Given the description of an element on the screen output the (x, y) to click on. 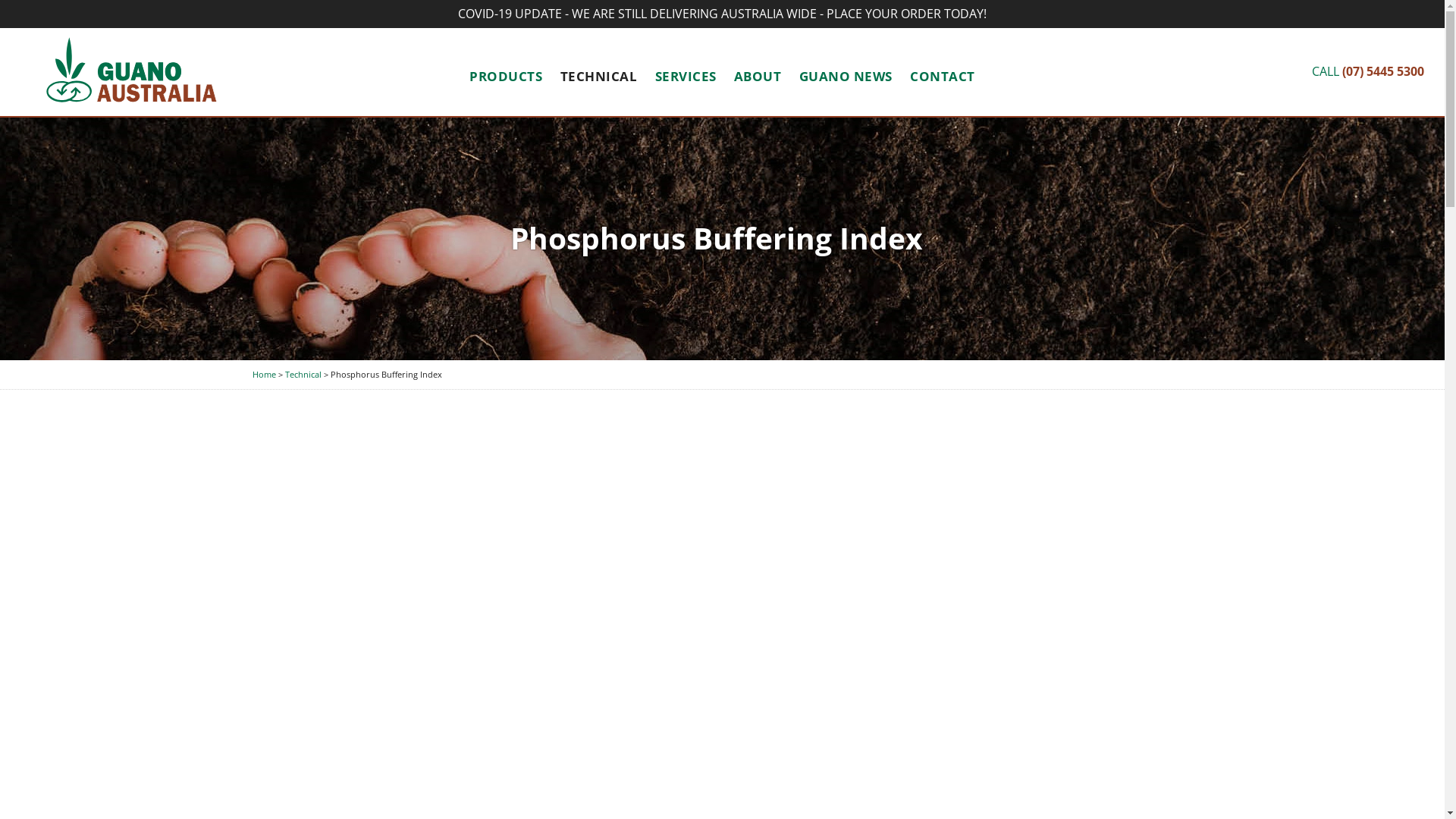
CALL (07) 5445 5300 Element type: text (1367, 71)
CONTACT Element type: text (942, 75)
Guano Element type: hover (130, 71)
PRODUCTS Element type: text (505, 75)
GUANO NEWS Element type: text (845, 75)
ABOUT Element type: text (757, 75)
SERVICES Element type: text (685, 75)
Technical Element type: text (303, 373)
Home Element type: text (263, 373)
TECHNICAL Element type: text (598, 75)
